Given the description of an element on the screen output the (x, y) to click on. 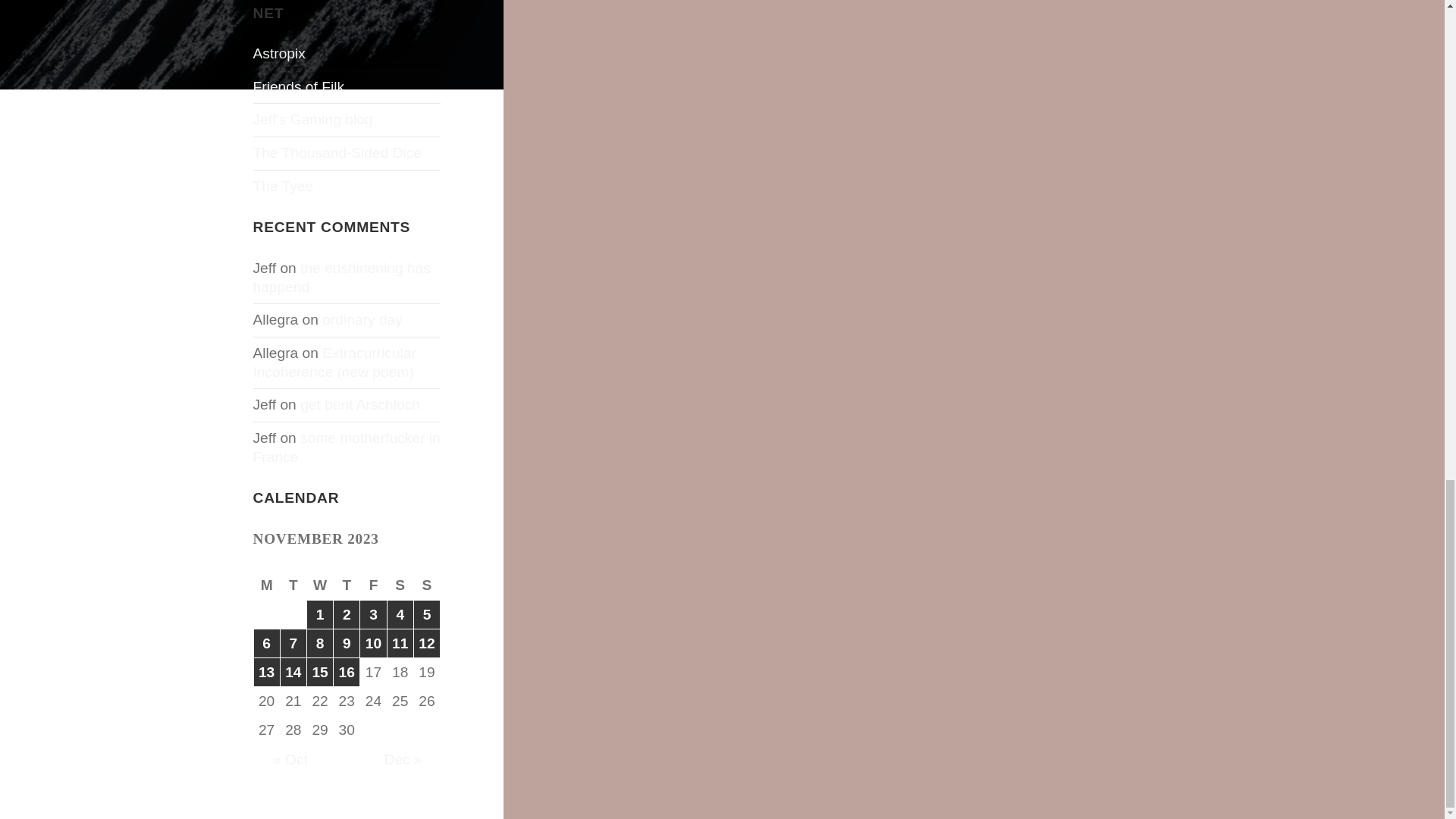
Tuesday (294, 584)
10 (372, 643)
Filk site (298, 86)
Friends of Filk (298, 86)
ordinary day (362, 319)
Friday (373, 584)
8 (320, 643)
Astropix (279, 53)
5 (426, 614)
